Given the description of an element on the screen output the (x, y) to click on. 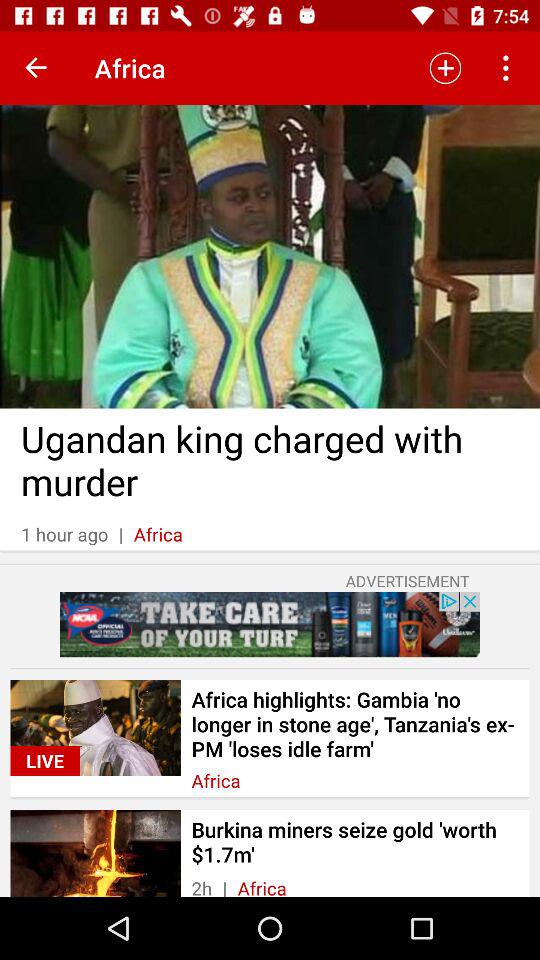
advateshment (270, 624)
